Given the description of an element on the screen output the (x, y) to click on. 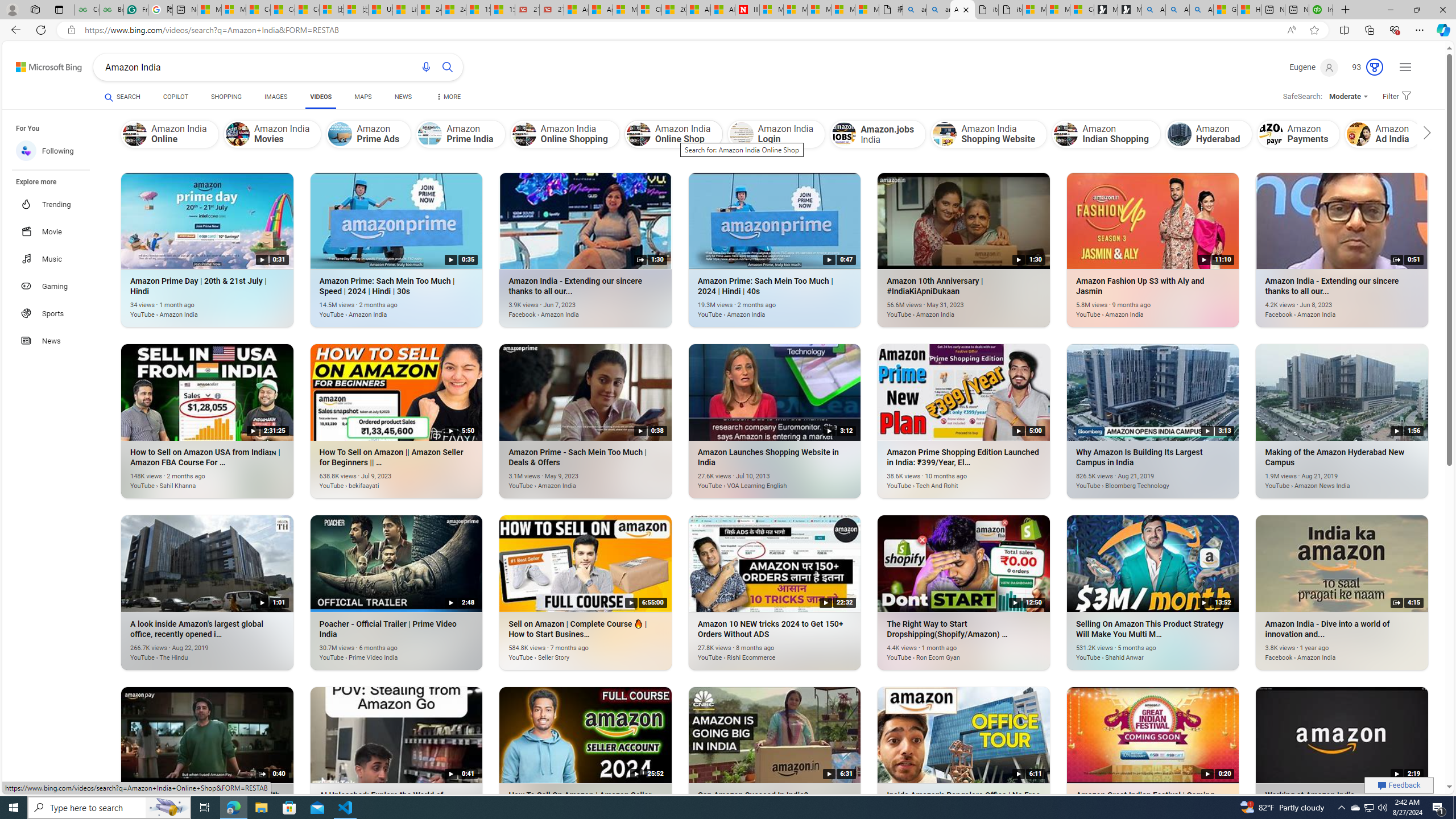
Amazon Prime India (429, 133)
MAPS (363, 98)
Amazon India - Search Videos (962, 9)
Movie (56, 231)
Amazon India Movies (272, 134)
Amazon.jobs India (877, 134)
